Given the description of an element on the screen output the (x, y) to click on. 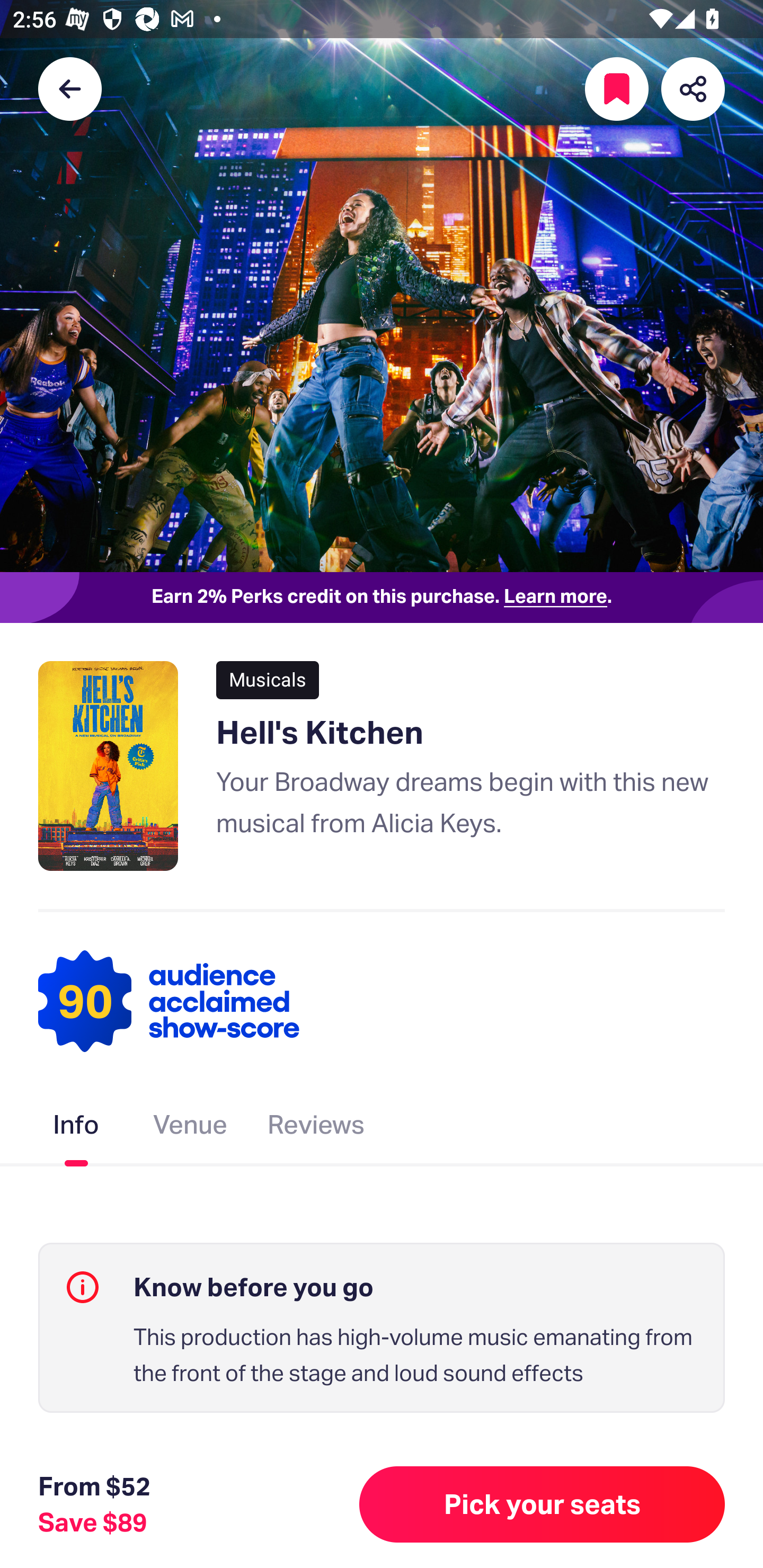
Earn 2% Perks credit on this purchase. Learn more. (381, 597)
Venue (190, 1127)
Reviews (315, 1127)
Pick your seats (541, 1504)
